Given the description of an element on the screen output the (x, y) to click on. 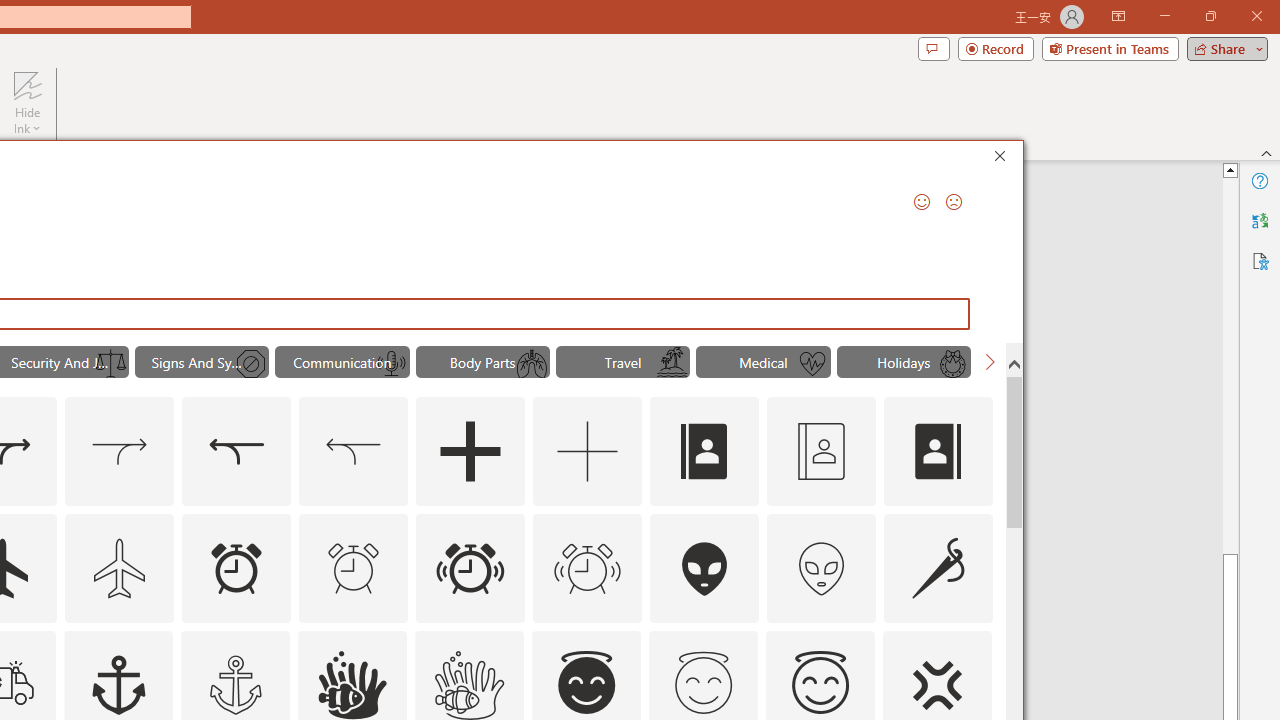
AutomationID: Icons_Acquisition_LTR_M (120, 452)
AutomationID: Icons_AlterationsTailoring (938, 568)
AutomationID: Icons_WreathHoliday_M (952, 364)
AutomationID: Icons_ScalesofJustice_M (111, 364)
AutomationID: Icons_AlarmRinging_M (587, 568)
AutomationID: Icons_Lungs_M (532, 364)
AutomationID: Icons_AddressBook_LTR (705, 452)
Send a Smile (922, 201)
